Given the description of an element on the screen output the (x, y) to click on. 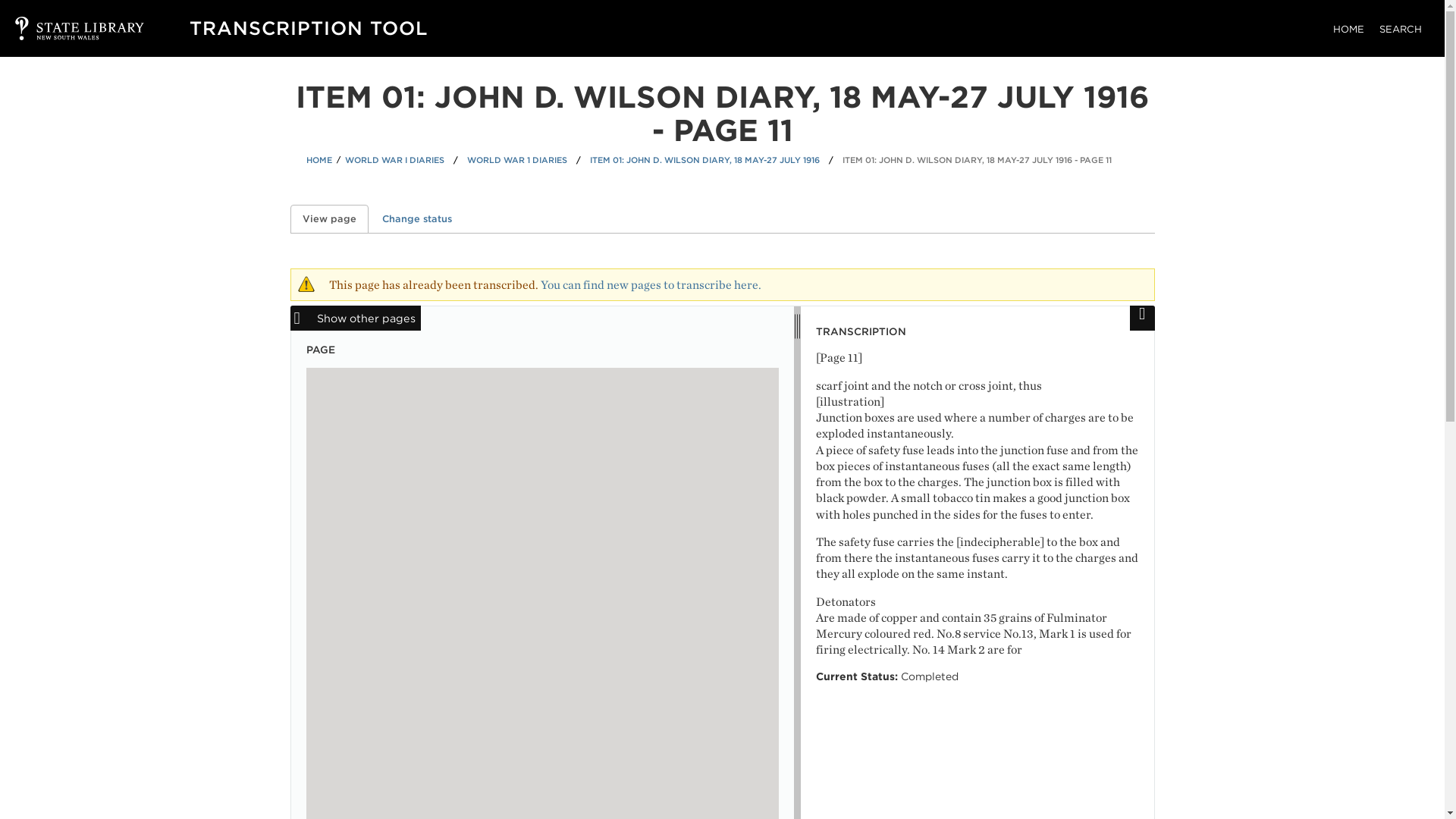
TRANSCRIPTION TOOL (308, 27)
WORLD WAR I DIARIES (393, 160)
HOME (1348, 29)
State Library of NSW (64, 28)
WORLD WAR 1 DIARIES (517, 160)
You can find new pages to transcribe here. (650, 284)
Change status (416, 218)
SEARCH (1400, 29)
ITEM 01: JOHN D. WILSON DIARY, 18 MAY-27 JULY 1916 (704, 160)
HOME (318, 160)
Home (308, 27)
ITEM 01: JOHN D. WILSON DIARY, 18 MAY-27 JULY 1916 - PAGE 11 (975, 160)
